Given the description of an element on the screen output the (x, y) to click on. 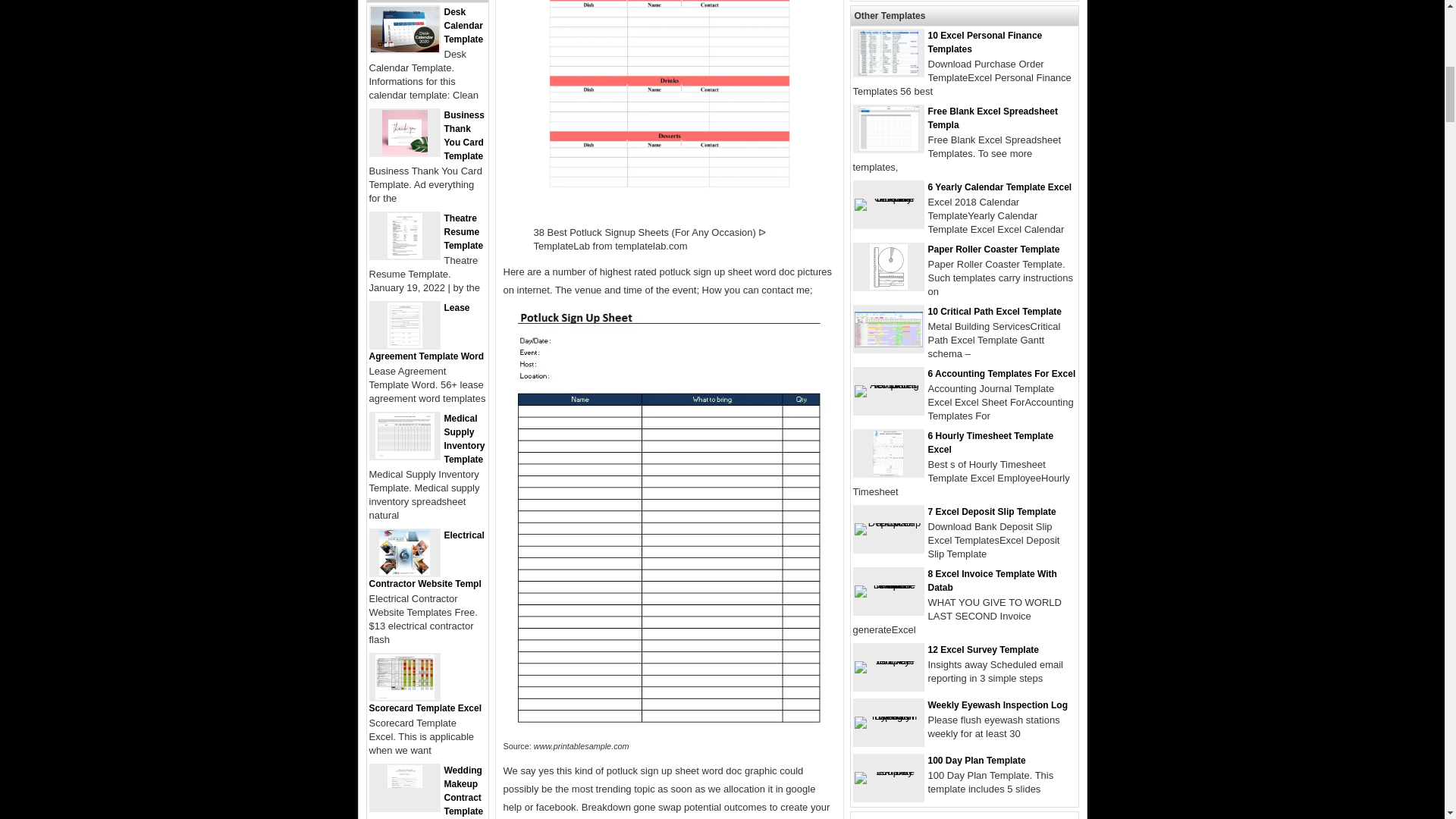
Lease Agreement Template Word (425, 331)
Desk Calendar Template (403, 48)
Desk Calendar Template (463, 25)
Electrical Contractor Website Templ (425, 558)
Theatre Resume Template (463, 231)
